Given the description of an element on the screen output the (x, y) to click on. 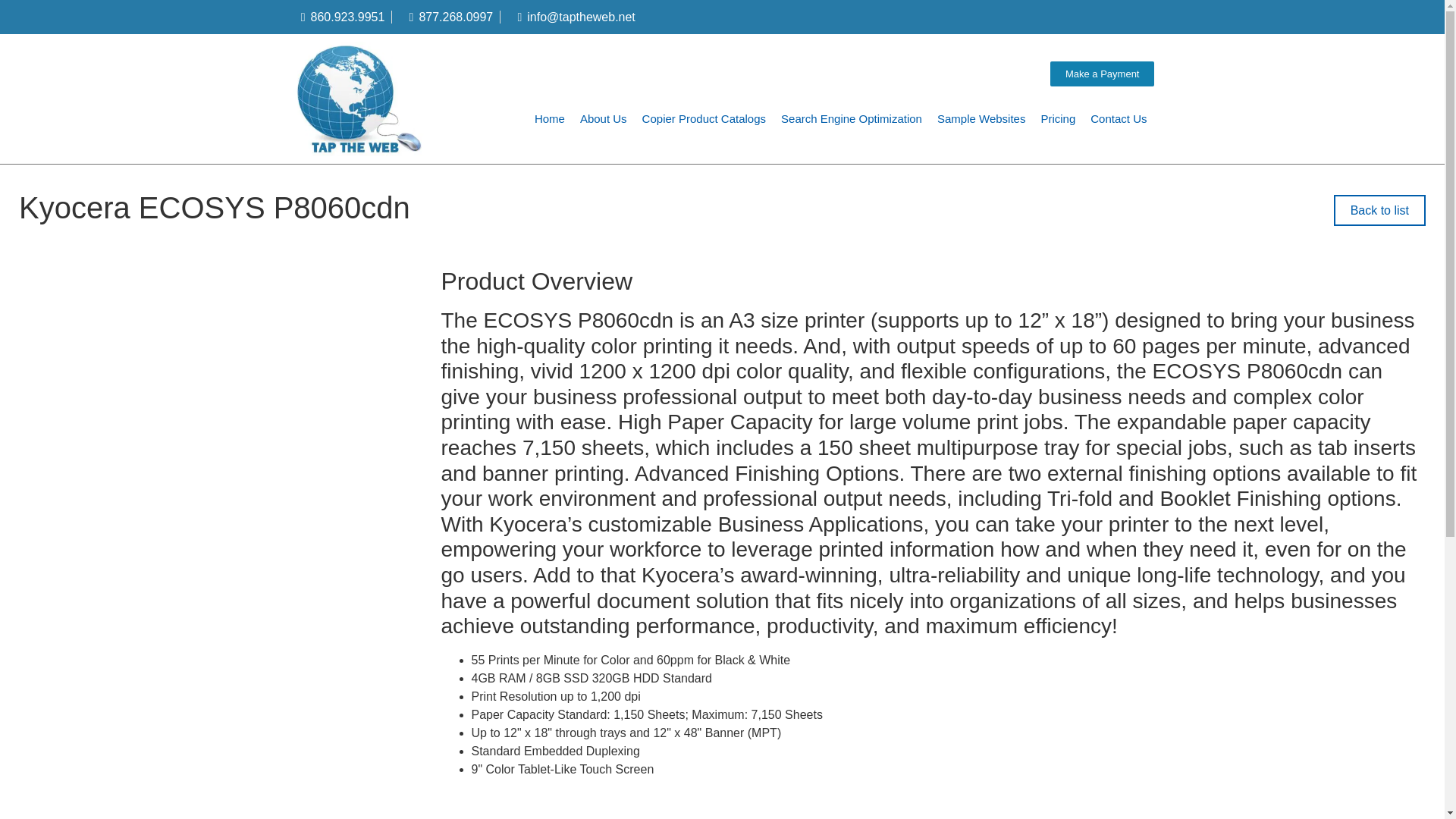
Pricing (1057, 118)
Make a Payment (1101, 73)
Search Engine Optimization (851, 118)
Back to list (1379, 210)
Contact Us (1118, 118)
860.923.9951 (336, 16)
877.268.0997 (445, 16)
Copier Product Catalogs (703, 118)
Home (549, 118)
Sample Websites (981, 118)
About Us (603, 118)
